Given the description of an element on the screen output the (x, y) to click on. 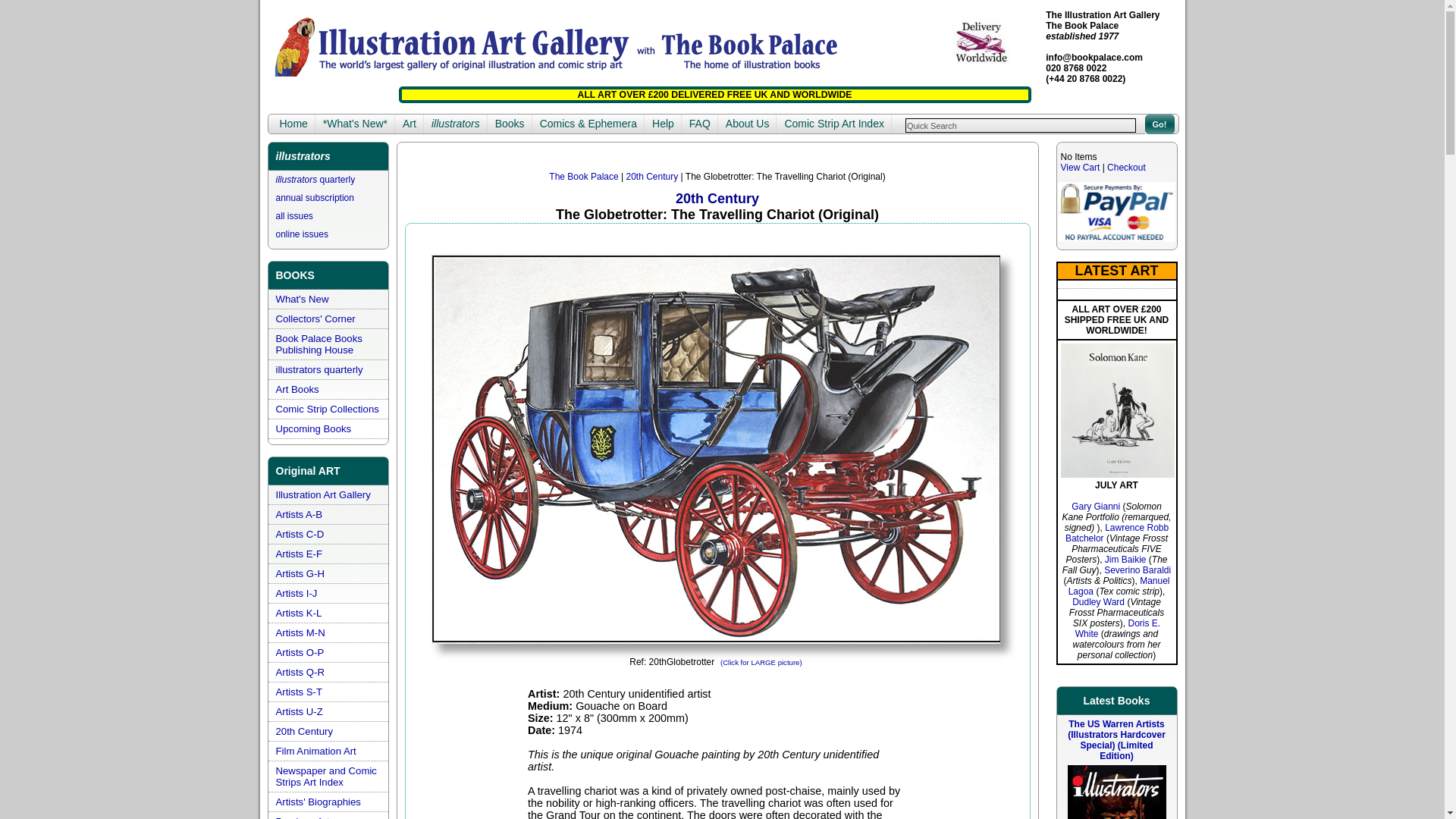
illustrators quarterly (315, 179)
Frequently Asked Questions (699, 123)
20th Century (304, 731)
Help (663, 123)
Artists S-T (299, 691)
Art (408, 123)
About Us (747, 123)
Film Animation Art (316, 750)
annual subscription (314, 197)
Artists' Biographies (318, 801)
Quick Search (1020, 124)
Artists C-D (300, 533)
Newspaper and Comic Strips Art Index (326, 775)
About us (747, 123)
Book Palace Books Publishing House (319, 343)
